Given the description of an element on the screen output the (x, y) to click on. 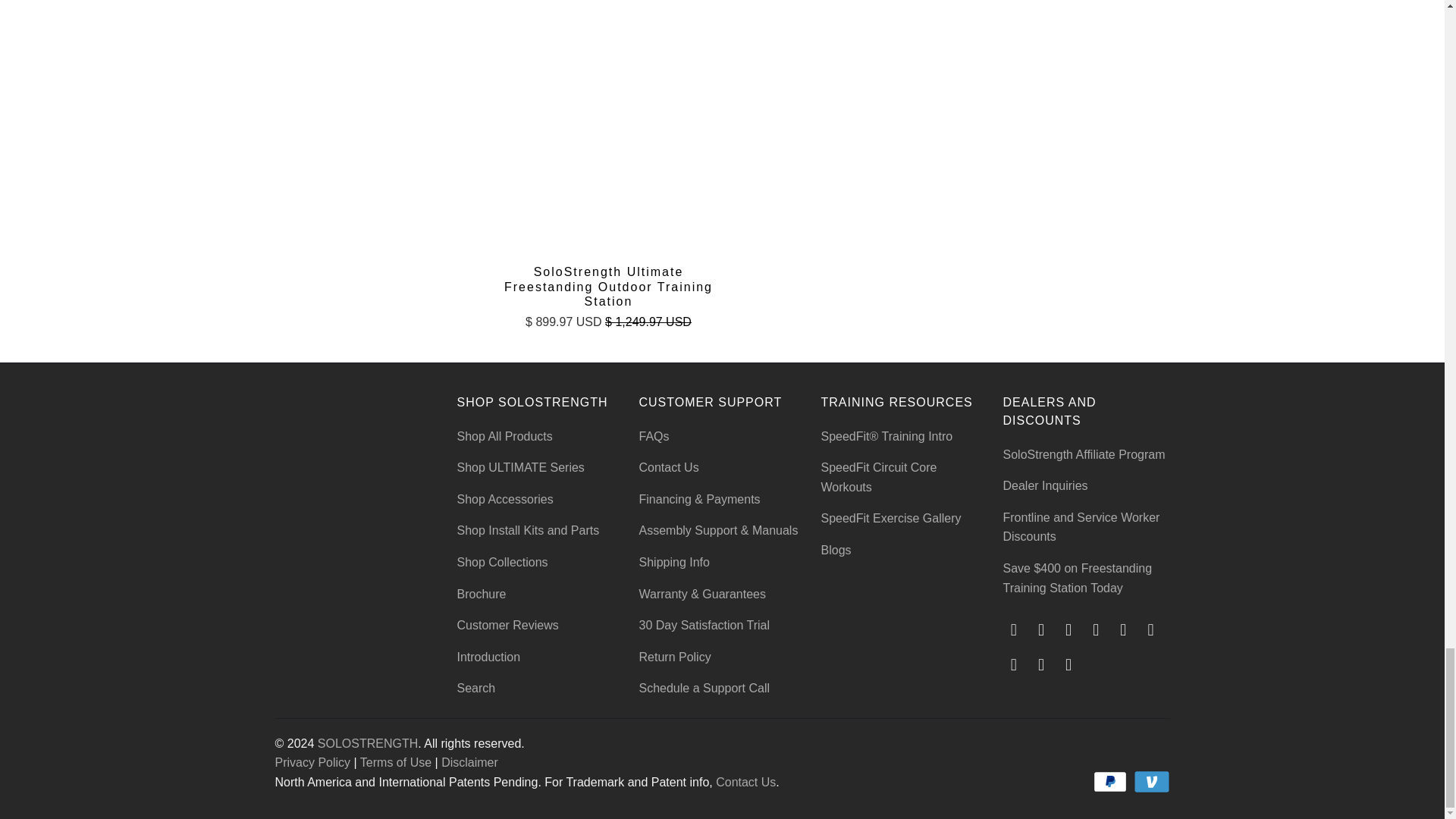
Venmo (1150, 781)
PayPal (1111, 781)
